Given the description of an element on the screen output the (x, y) to click on. 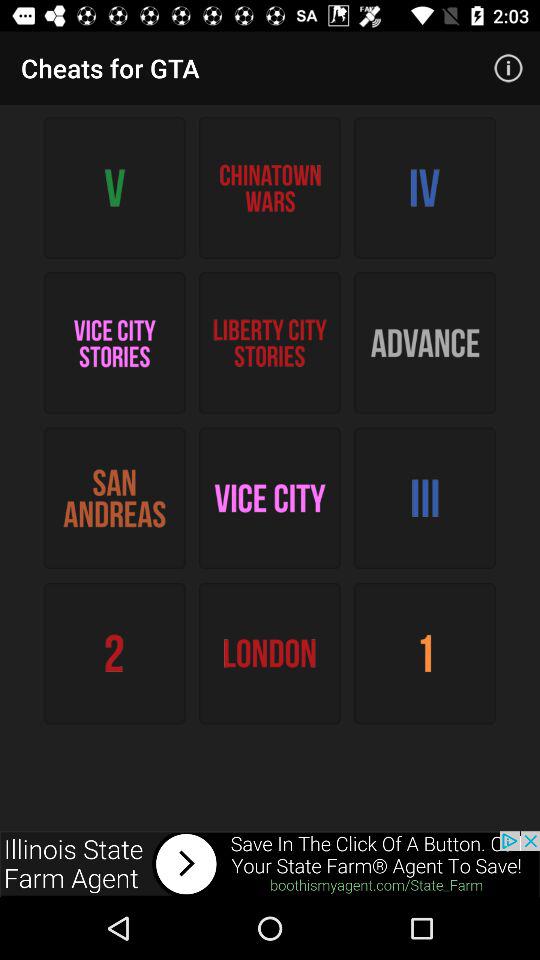
advertisement button (270, 864)
